Given the description of an element on the screen output the (x, y) to click on. 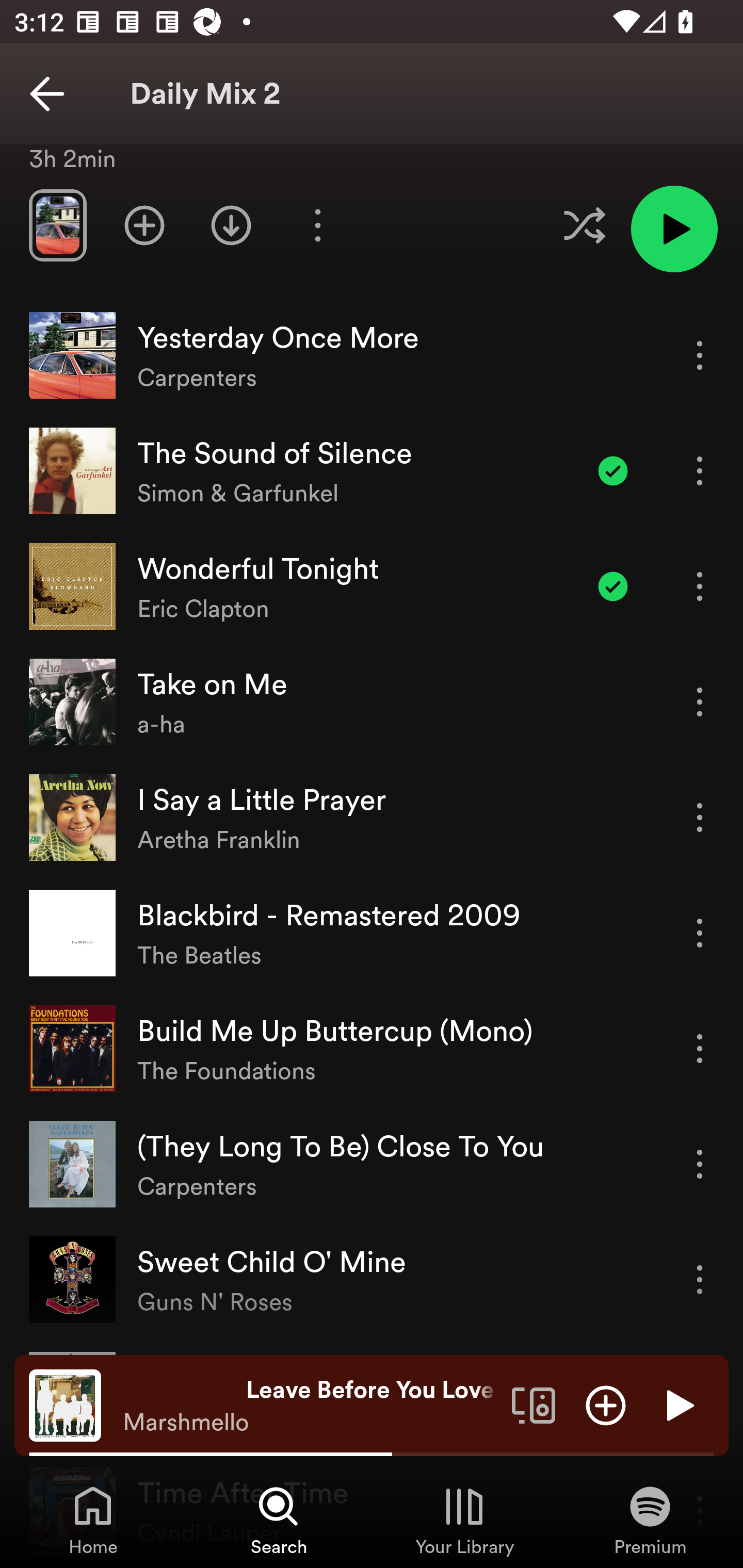
Back (46, 93)
Swipe through previews of tracks in this playlist. (57, 224)
Add playlist to Your Library (144, 224)
Download (230, 224)
More options for playlist Daily Mix 2 (317, 224)
Enable shuffle for this playlist (583, 224)
Play playlist (674, 228)
More options for song Yesterday Once More (699, 355)
Item added (612, 471)
More options for song The Sound of Silence (699, 471)
Item added (612, 586)
More options for song Wonderful Tonight (699, 586)
Take on Me a-ha More options for song Take on Me (371, 702)
More options for song Take on Me (699, 701)
More options for song I Say a Little Prayer (699, 817)
